Given the description of an element on the screen output the (x, y) to click on. 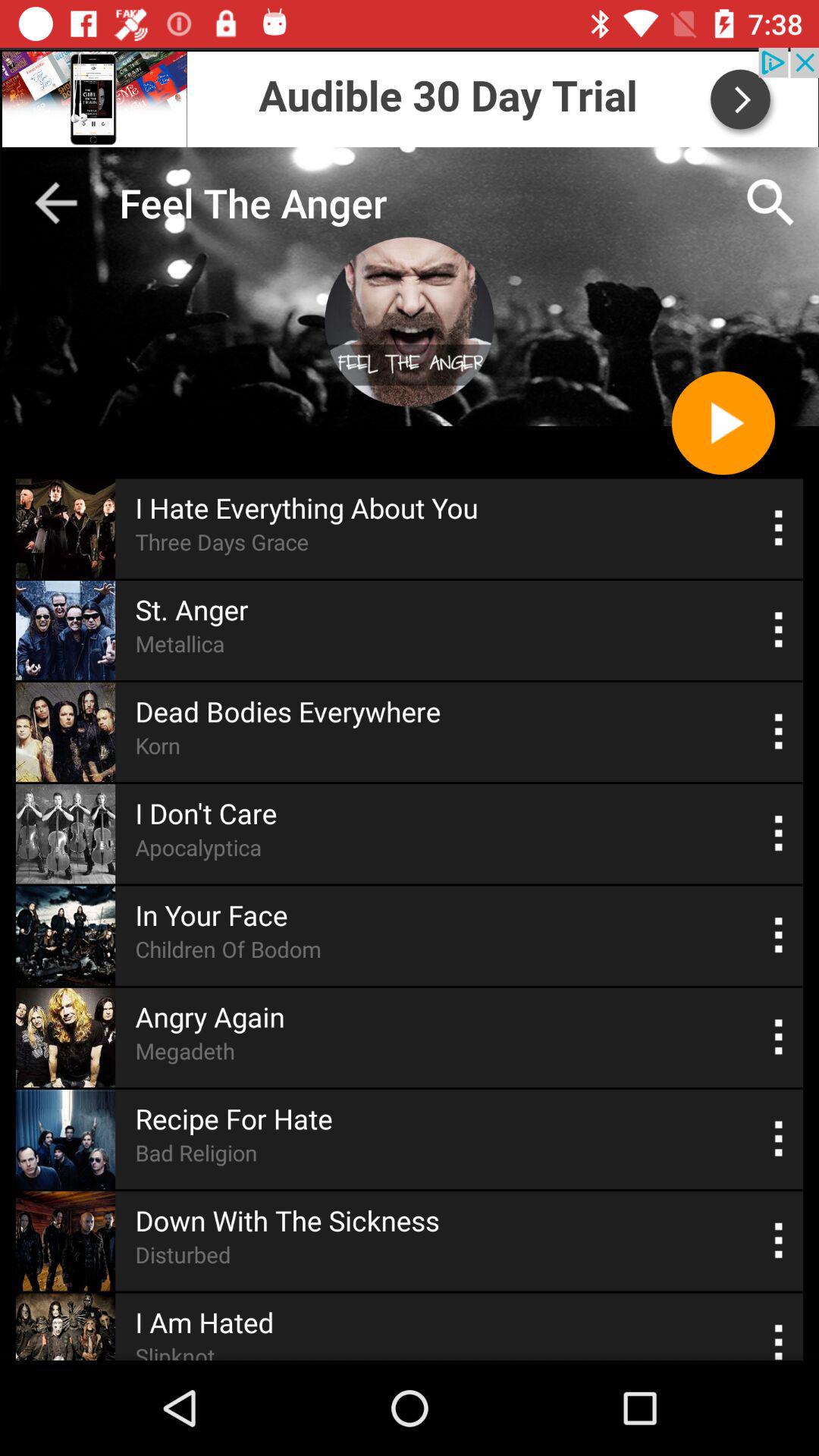
more details option (779, 1339)
